Given the description of an element on the screen output the (x, y) to click on. 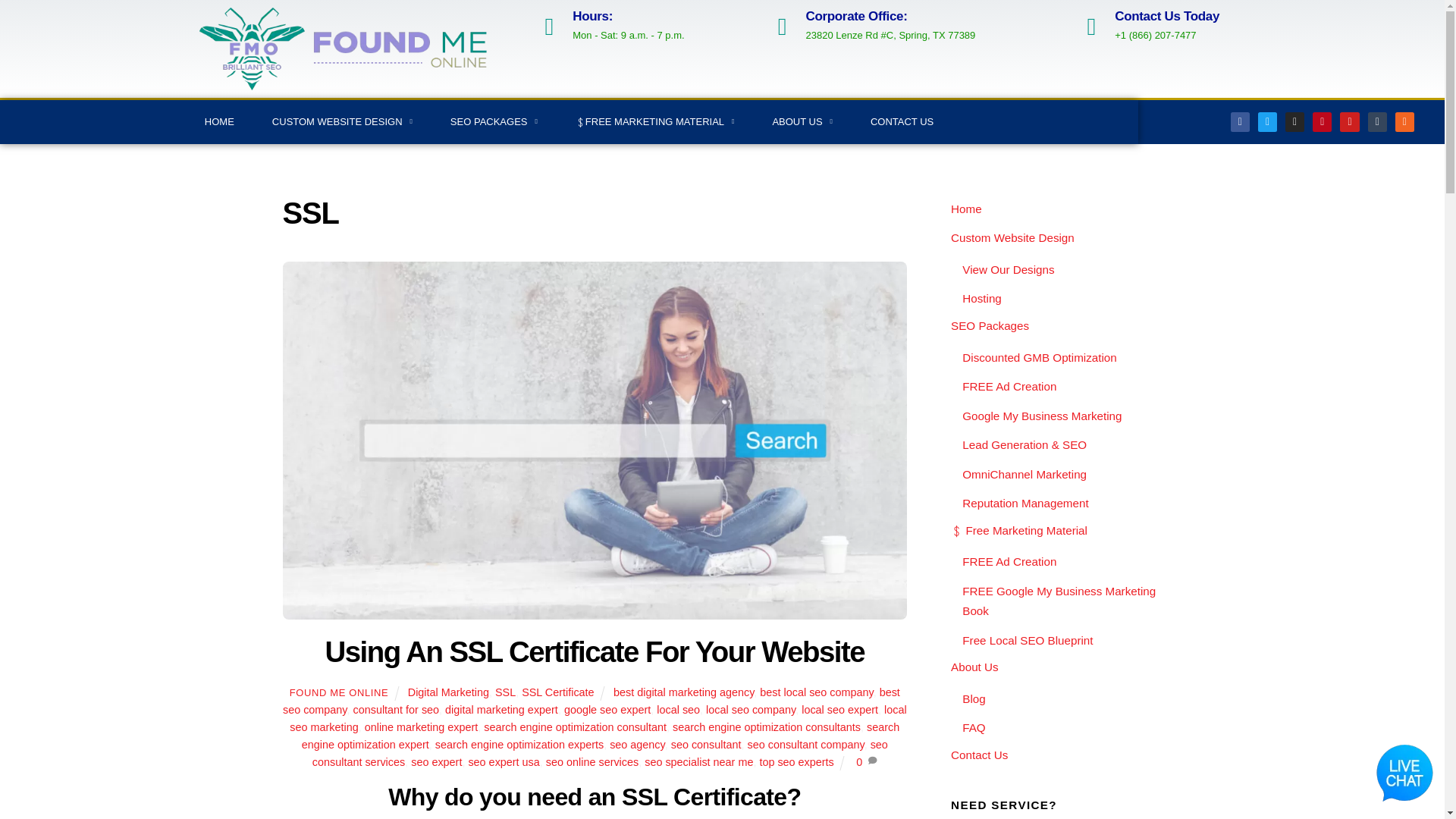
ABOUT US (801, 121)
Contact Us Today (1167, 16)
HOME (219, 121)
FREE MARKETING MATERIAL (655, 121)
CUSTOM WEBSITE DESIGN (341, 121)
SEO PACKAGES (493, 121)
CONTACT US (901, 121)
